Given the description of an element on the screen output the (x, y) to click on. 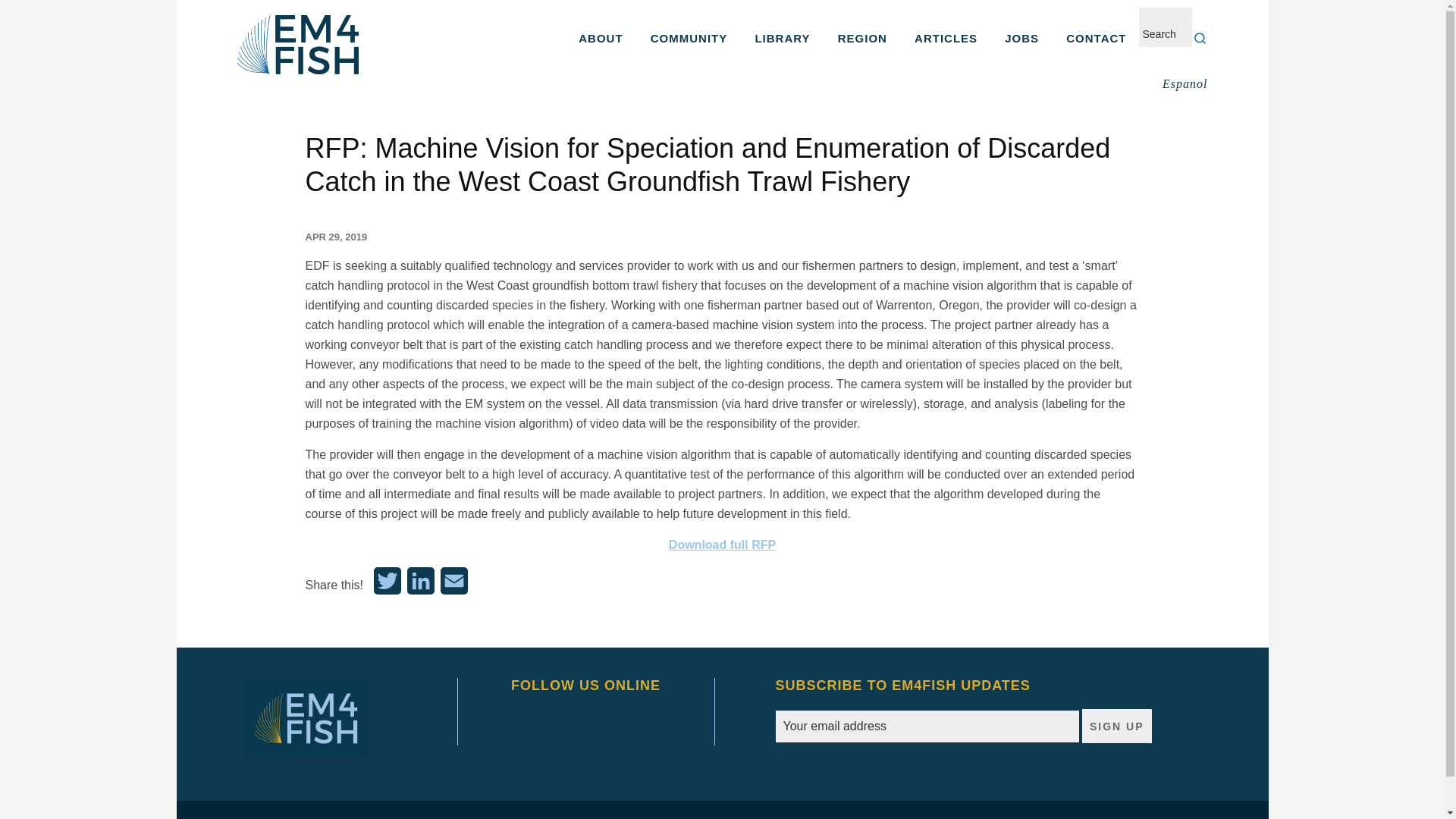
LinkedIn (421, 585)
Download full RFP (722, 544)
Twitter (387, 585)
ARTICLES (946, 38)
JOBS (1021, 38)
Email (454, 585)
LIBRARY (782, 38)
REGION (862, 38)
Search (1199, 37)
COMMUNITY (689, 38)
Espanol (1184, 84)
ABOUT (600, 38)
Sign up (1116, 725)
Search (1199, 37)
